Given the description of an element on the screen output the (x, y) to click on. 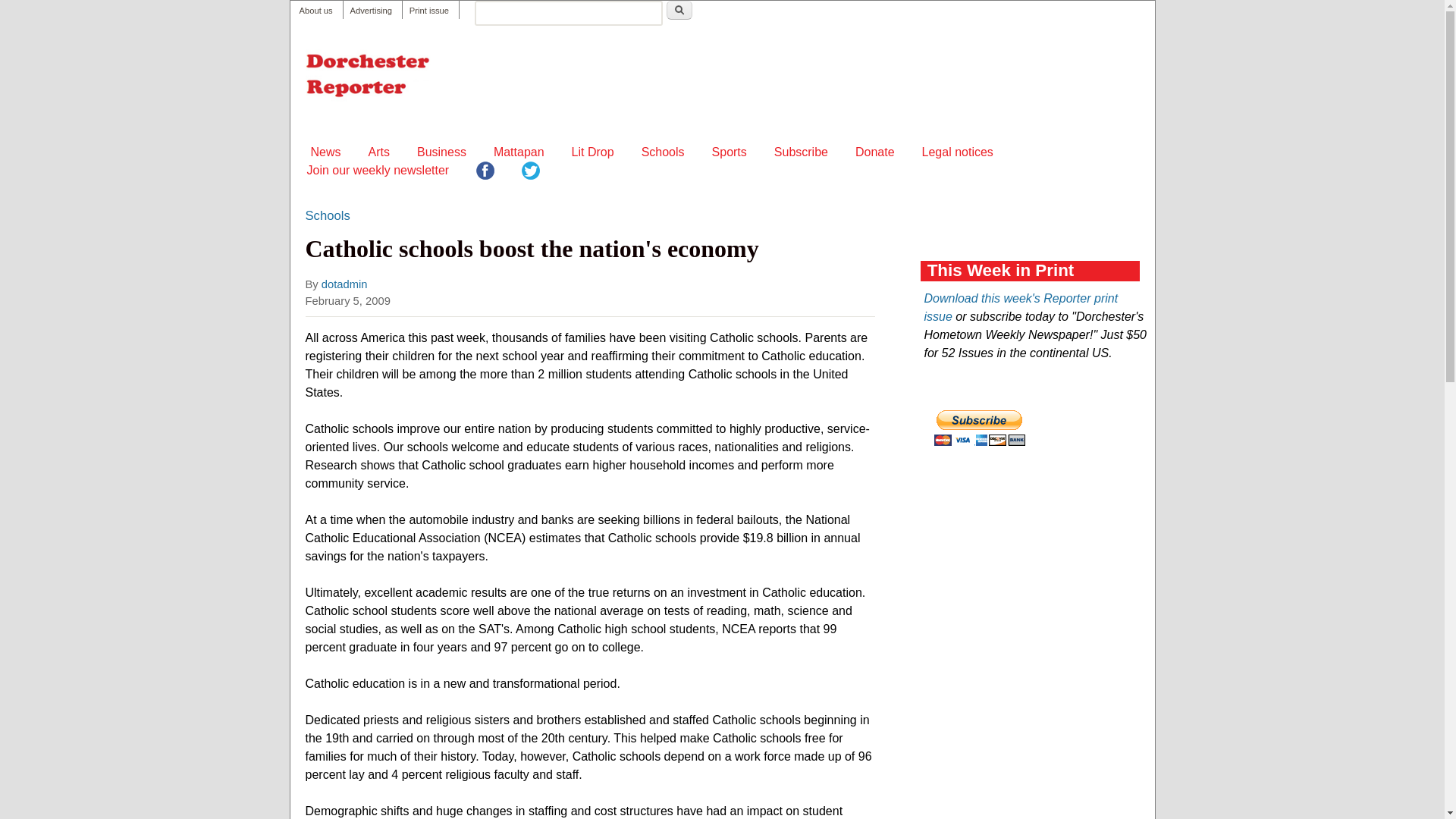
The DotNews Twitter feed (530, 173)
Print issue (428, 10)
About us (315, 10)
Arts (379, 152)
Search (679, 9)
Legal notices (956, 152)
About the Reporter (315, 10)
View user profile. (344, 284)
Dorchester Reporter weekly print issue (428, 10)
Donate (874, 152)
Sports (729, 152)
Mattapan (518, 152)
Join our weekly newsletter (376, 170)
Schools (662, 152)
Subscribe (801, 152)
